Given the description of an element on the screen output the (x, y) to click on. 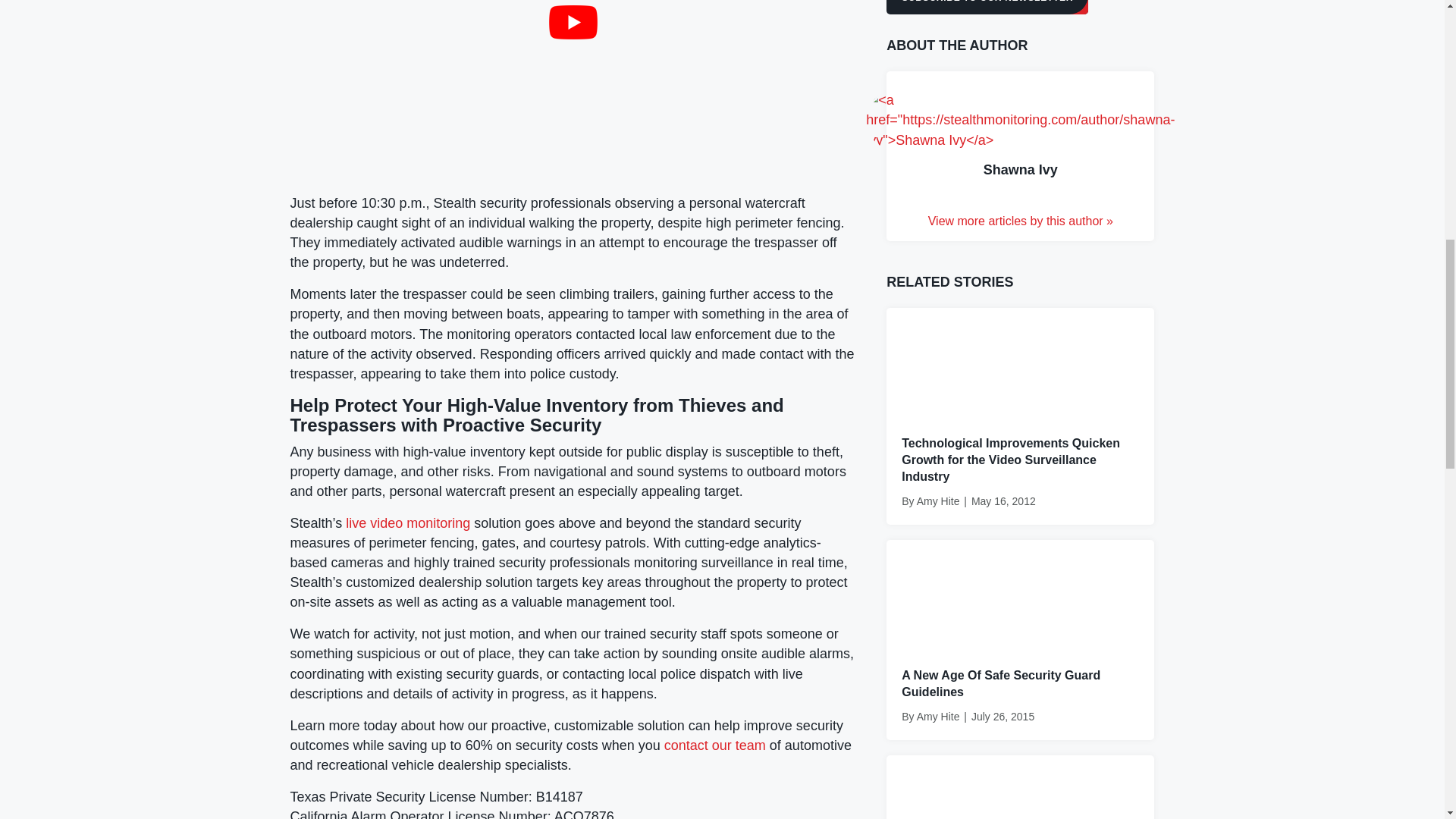
A New Age Of Safe Security Guard Guidelines (1000, 683)
Crime Data Analysis (1020, 810)
A New Age Of Safe Security Guard Guidelines (1020, 595)
